Given the description of an element on the screen output the (x, y) to click on. 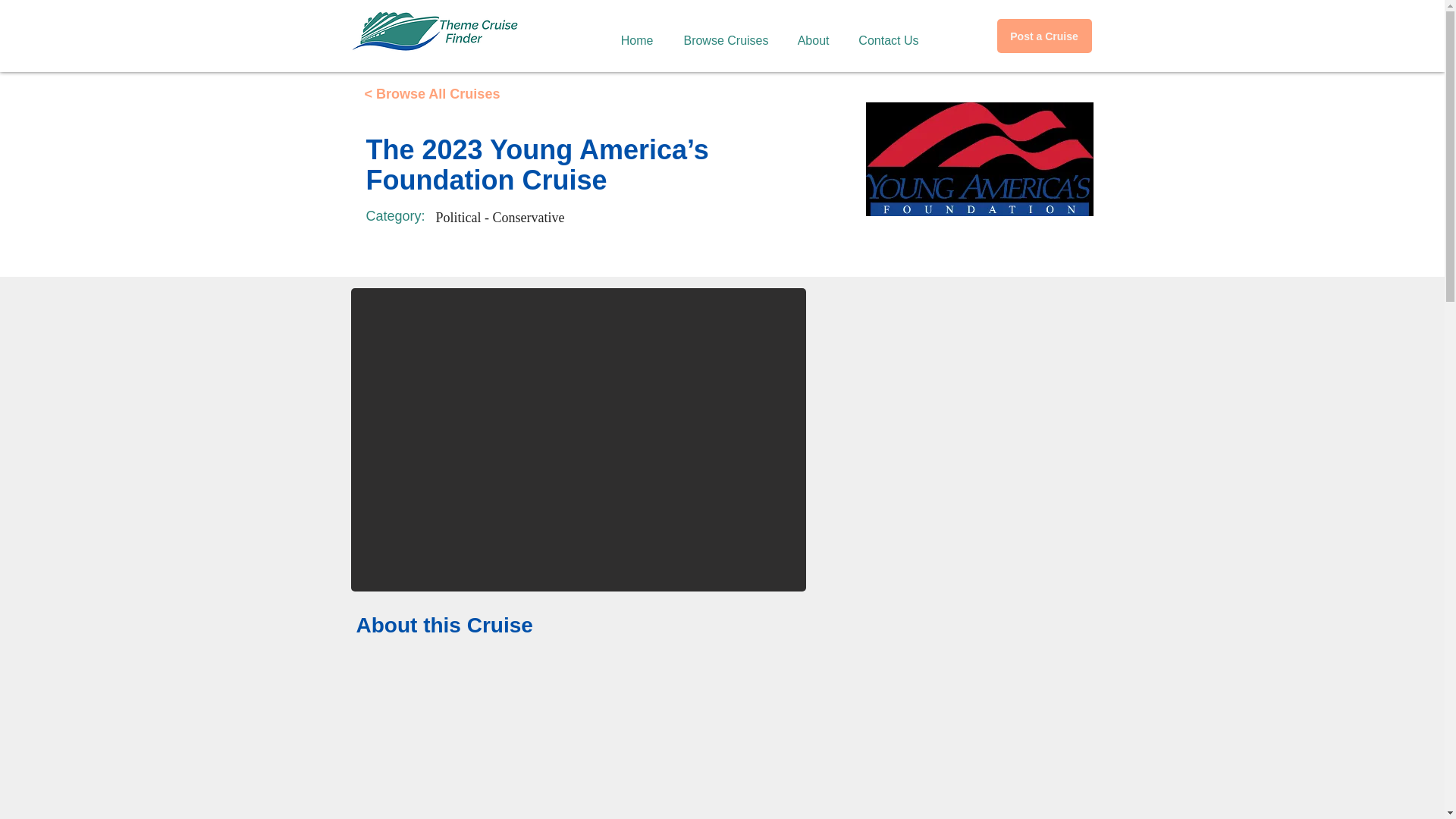
Contact Us (883, 33)
Browse Cruises (719, 33)
Post a Cruise (1042, 35)
Home (632, 33)
